Given the description of an element on the screen output the (x, y) to click on. 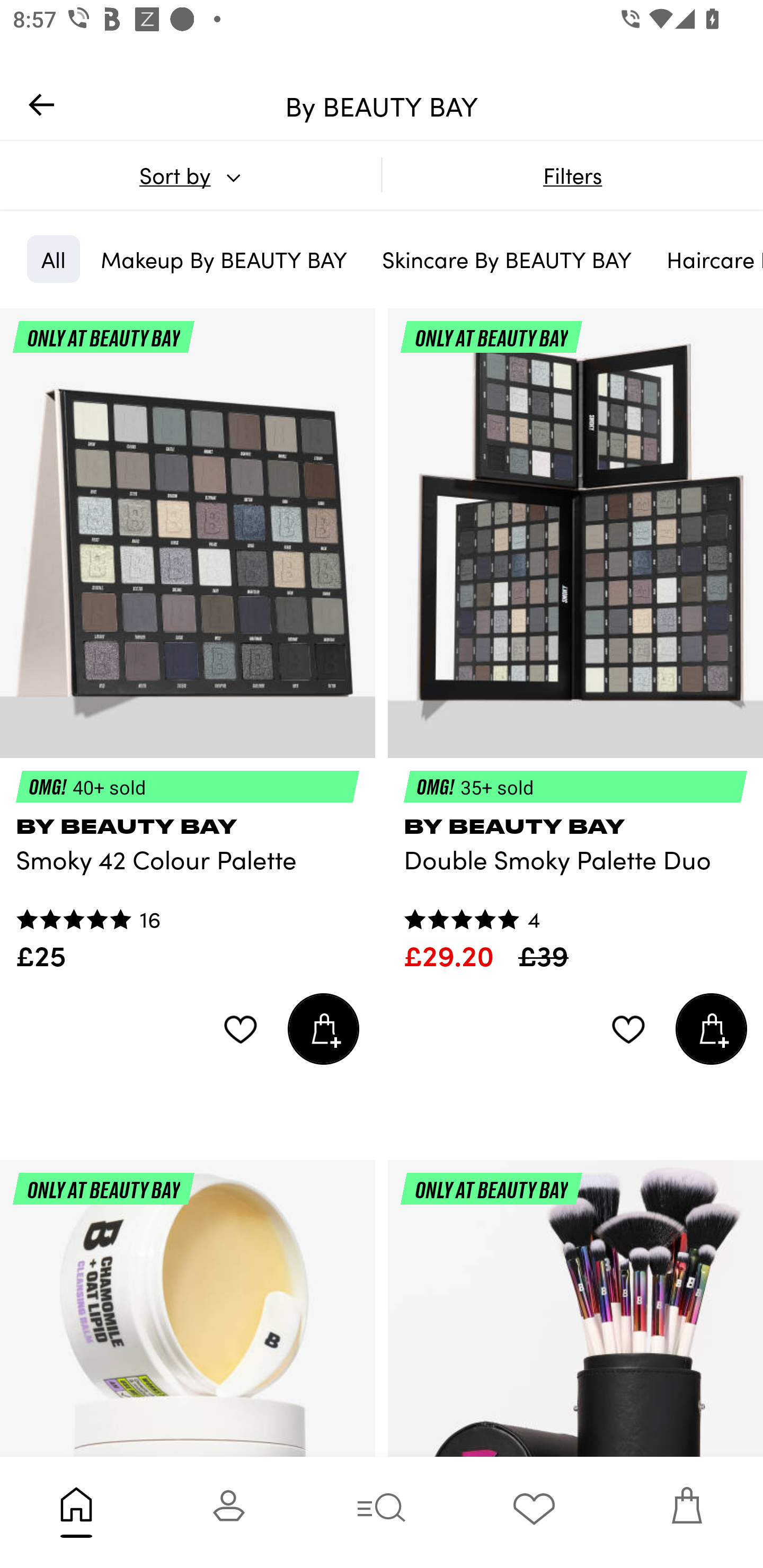
Sort by (190, 174)
Filters (572, 174)
All (53, 258)
Makeup By BEAUTY BAY (223, 258)
Skincare By BEAUTY BAY (506, 258)
Haircare By BEAUTY BAY (707, 258)
